Given the description of an element on the screen output the (x, y) to click on. 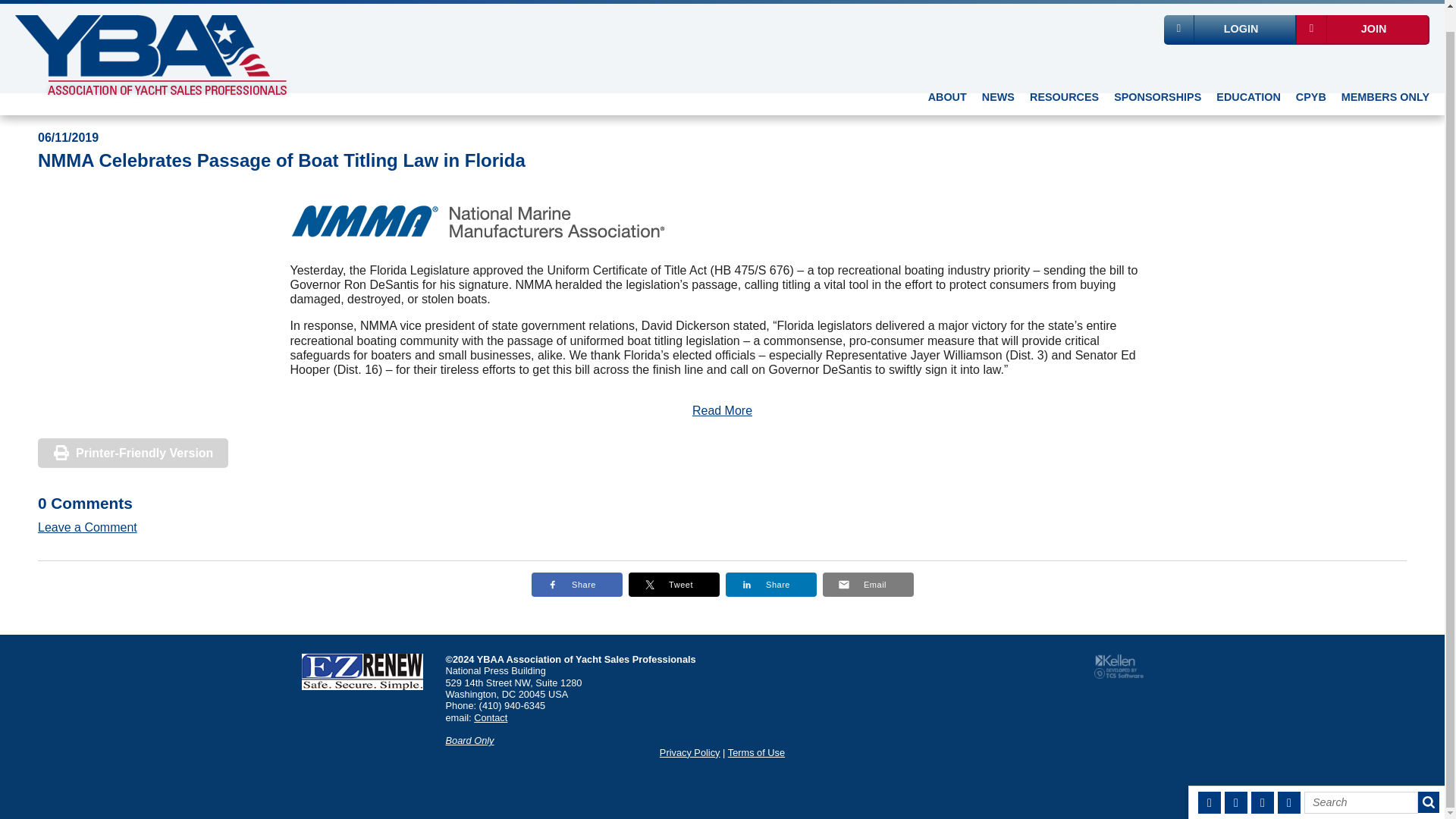
CPYB (1310, 77)
ABOUT (947, 77)
Search (1361, 780)
Search (1361, 780)
SPONSORSHIPS (1157, 77)
Privacy Policy (689, 752)
EDUCATION (1247, 77)
NEWS (998, 77)
MEMBERS ONLY (1385, 77)
RESOURCES (1064, 77)
NMMA (479, 221)
Leave a Comment (86, 526)
Contact (490, 717)
Board Only (470, 740)
Read More (722, 410)
